Given the description of an element on the screen output the (x, y) to click on. 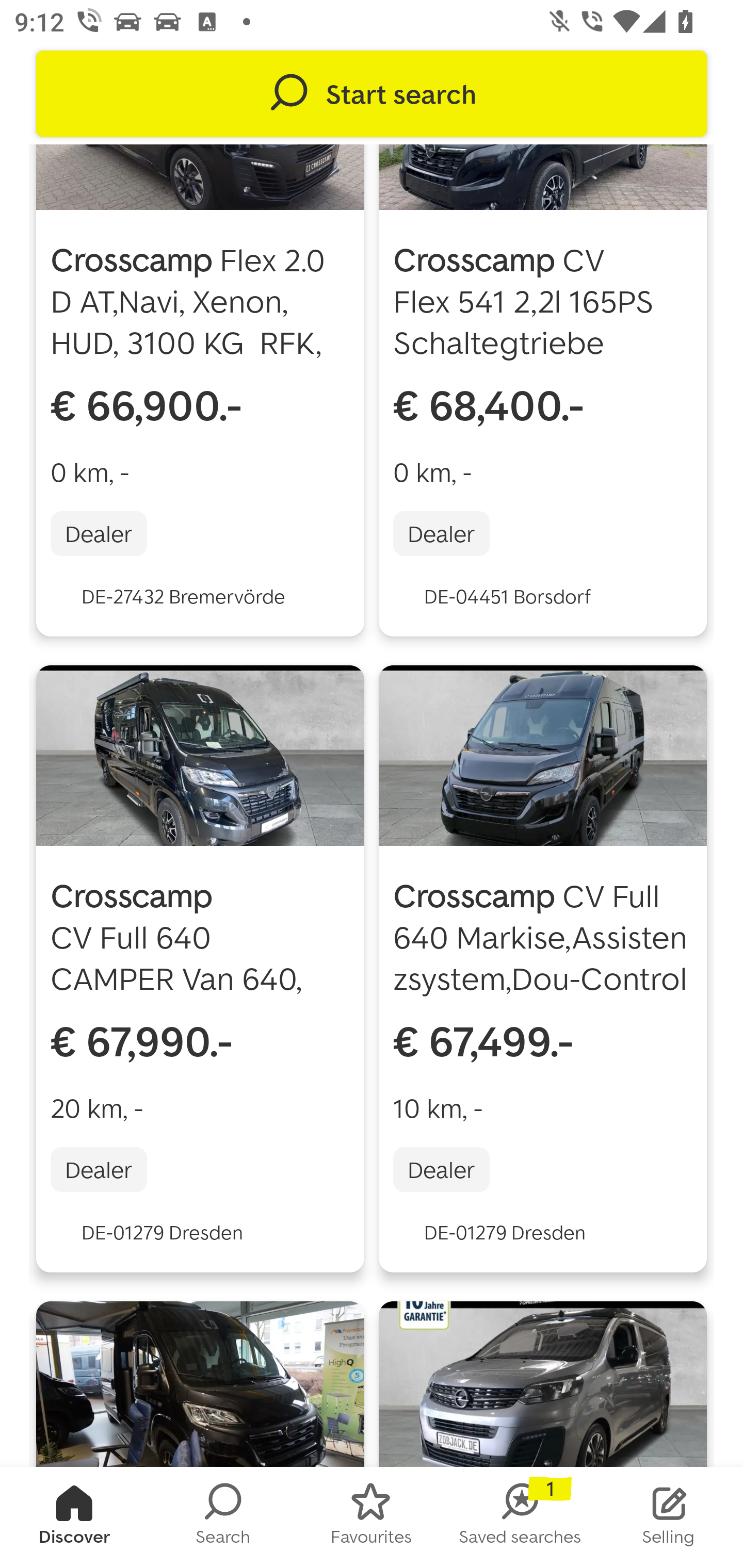
Start search (371, 93)
HOMESCREEN Discover (74, 1517)
SEARCH Search (222, 1517)
FAVORITES Favourites (371, 1517)
SAVED_SEARCHES Saved searches 1 (519, 1517)
STOCK_LIST Selling (668, 1517)
